Given the description of an element on the screen output the (x, y) to click on. 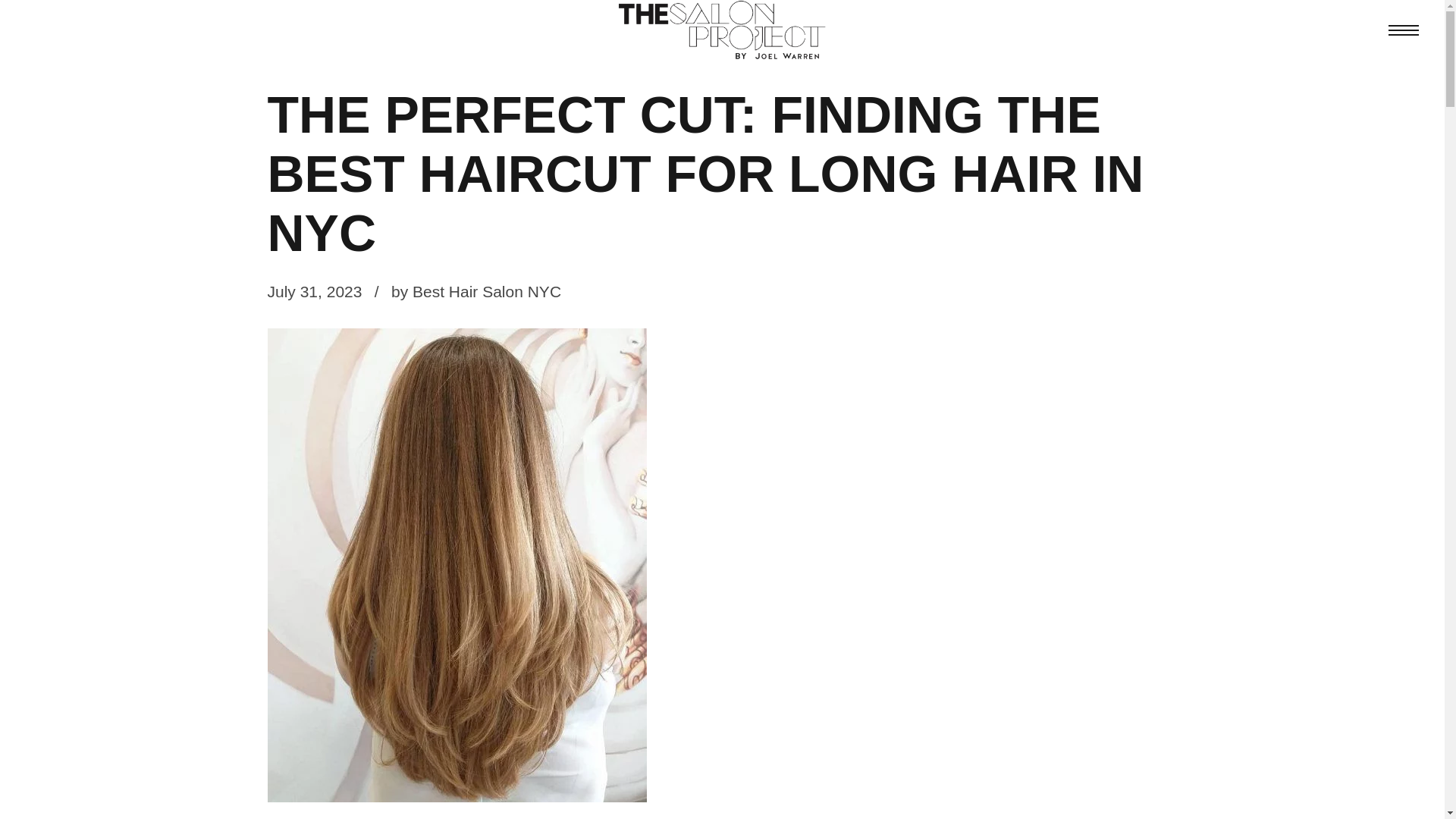
by Best Hair Salon NYC (475, 291)
BEST HAIRCUT NYC (341, 58)
